Given the description of an element on the screen output the (x, y) to click on. 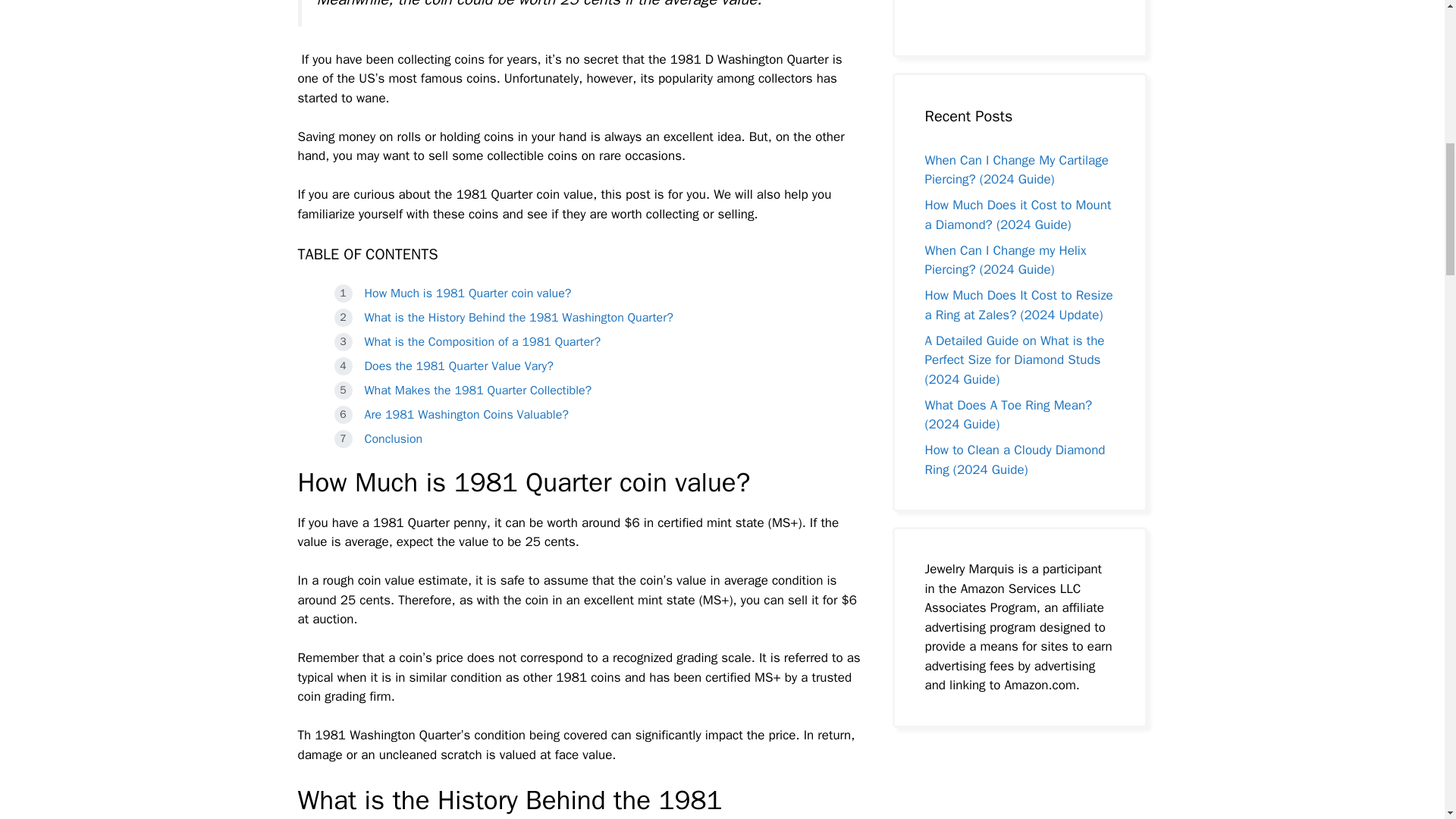
Does the 1981 Quarter Value Vary? (458, 365)
What Makes the 1981 Quarter Collectible? (477, 390)
Conclusion  (394, 438)
How Much is 1981 Quarter coin value? (467, 293)
What is the History Behind the 1981 Washington Quarter? (518, 317)
What is the Composition of a 1981 Quarter? (481, 341)
Are 1981 Washington Coins Valuable? (465, 414)
